Given the description of an element on the screen output the (x, y) to click on. 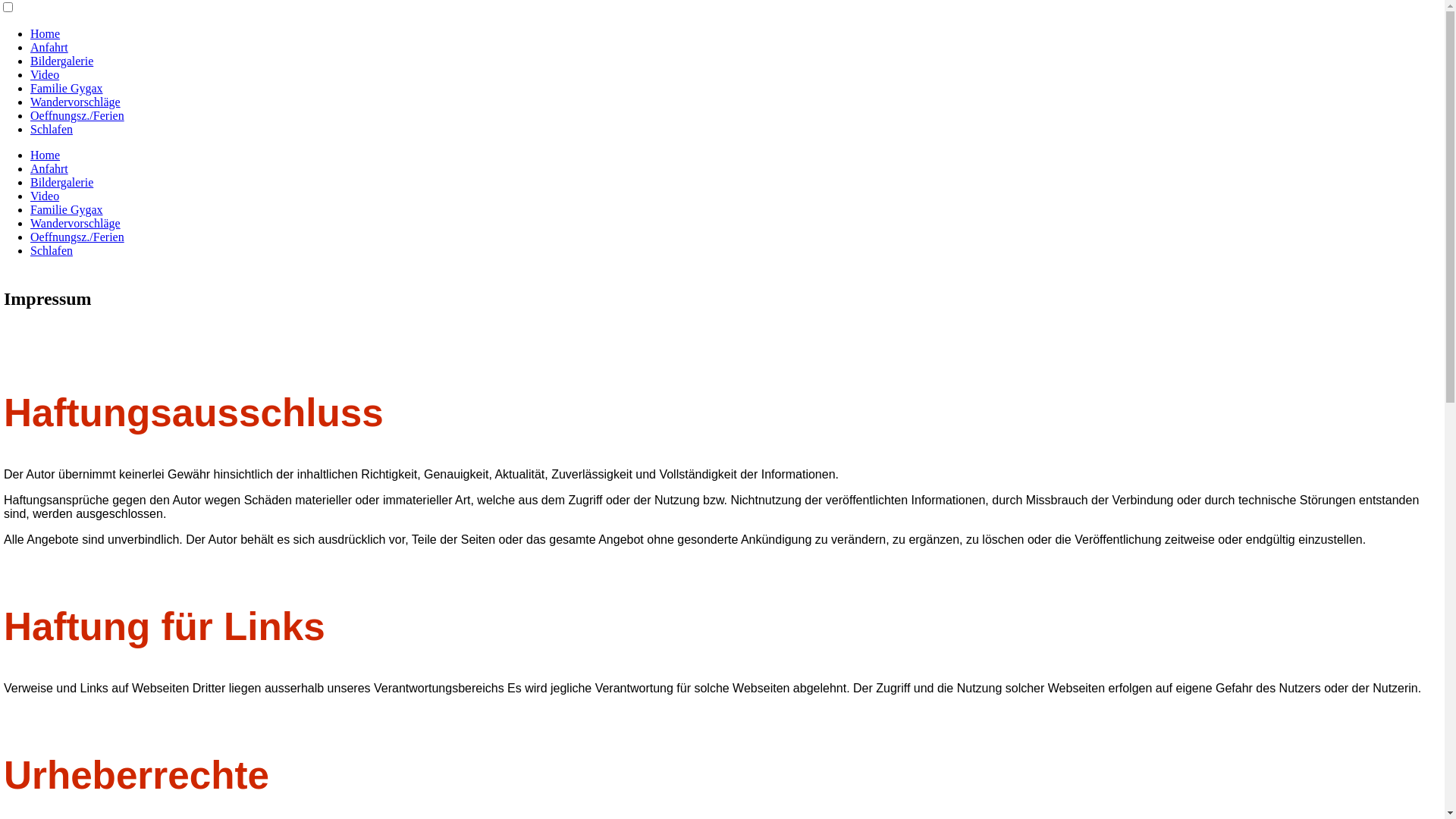
Home Element type: text (44, 33)
Anfahrt Element type: text (49, 168)
Anfahrt Element type: text (49, 46)
Oeffnungsz./Ferien Element type: text (77, 115)
Oeffnungsz./Ferien Element type: text (77, 236)
Familie Gygax Element type: text (66, 209)
Video Element type: text (44, 74)
Bildergalerie Element type: text (61, 60)
Schlafen Element type: text (51, 128)
Familie Gygax Element type: text (66, 87)
Video Element type: text (44, 195)
Home Element type: text (44, 154)
Bildergalerie Element type: text (61, 181)
Schlafen Element type: text (51, 250)
